Given the description of an element on the screen output the (x, y) to click on. 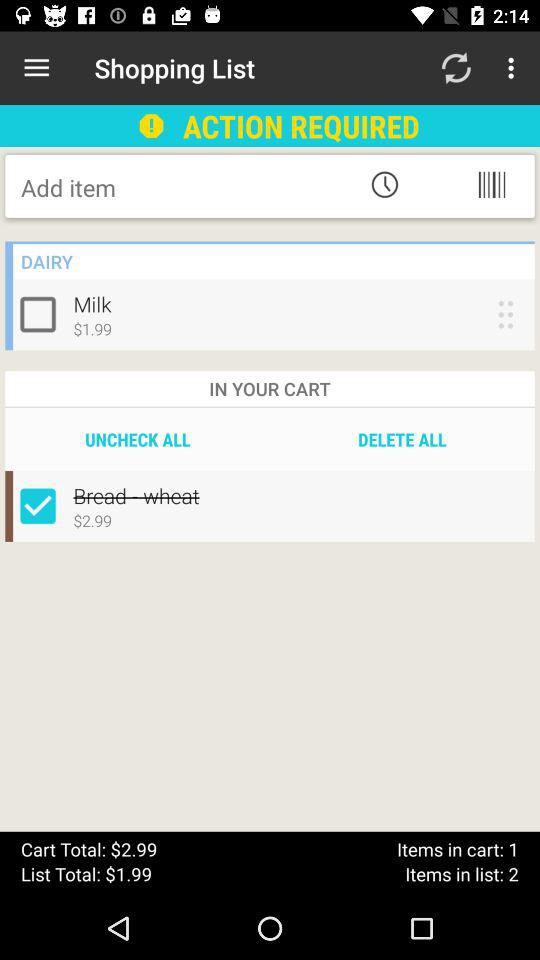
use barcode (491, 184)
